Given the description of an element on the screen output the (x, y) to click on. 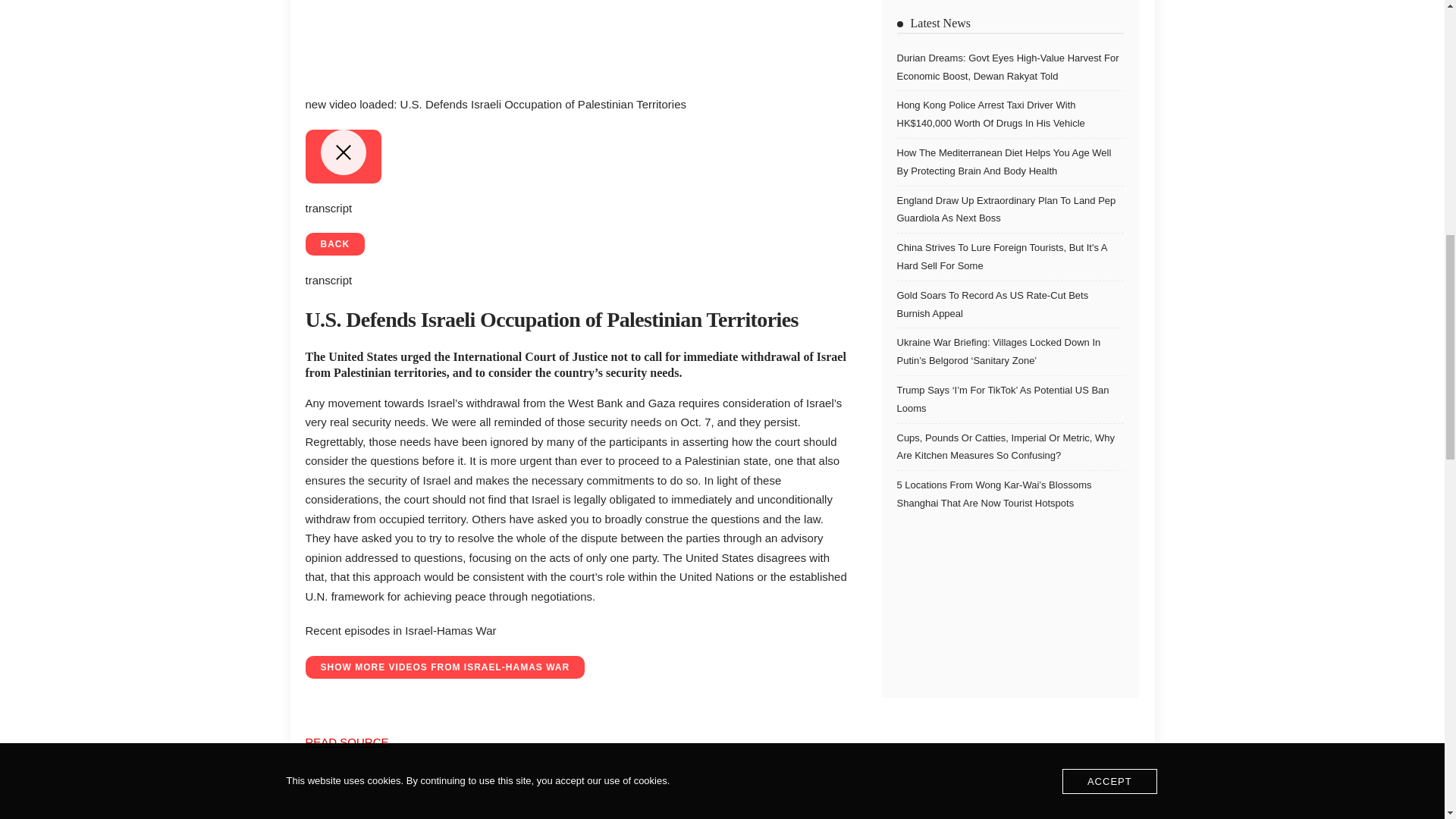
Advertisement (577, 37)
